Given the description of an element on the screen output the (x, y) to click on. 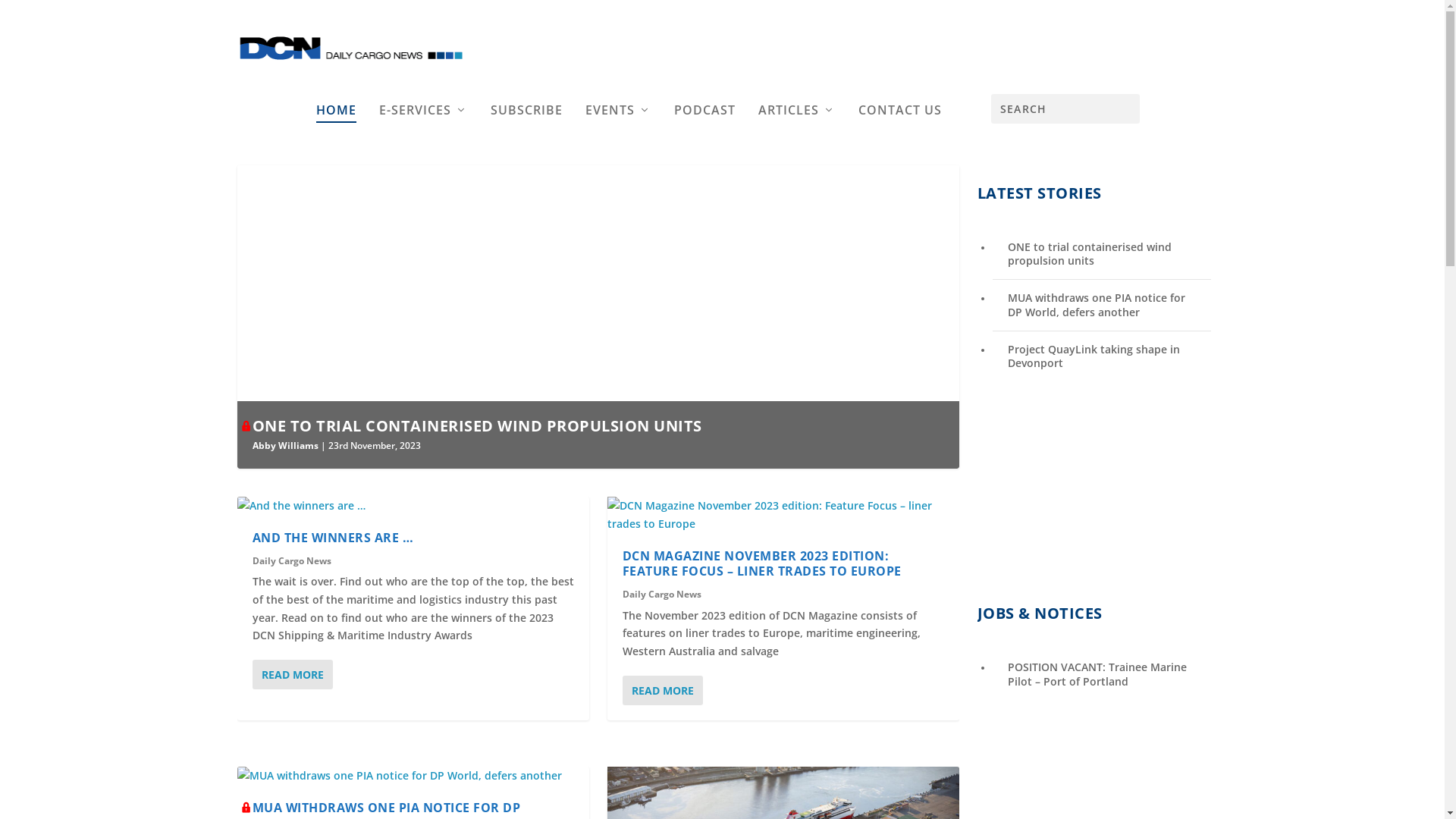
www.thedcn.com.au Element type: text (727, 343)
